Given the description of an element on the screen output the (x, y) to click on. 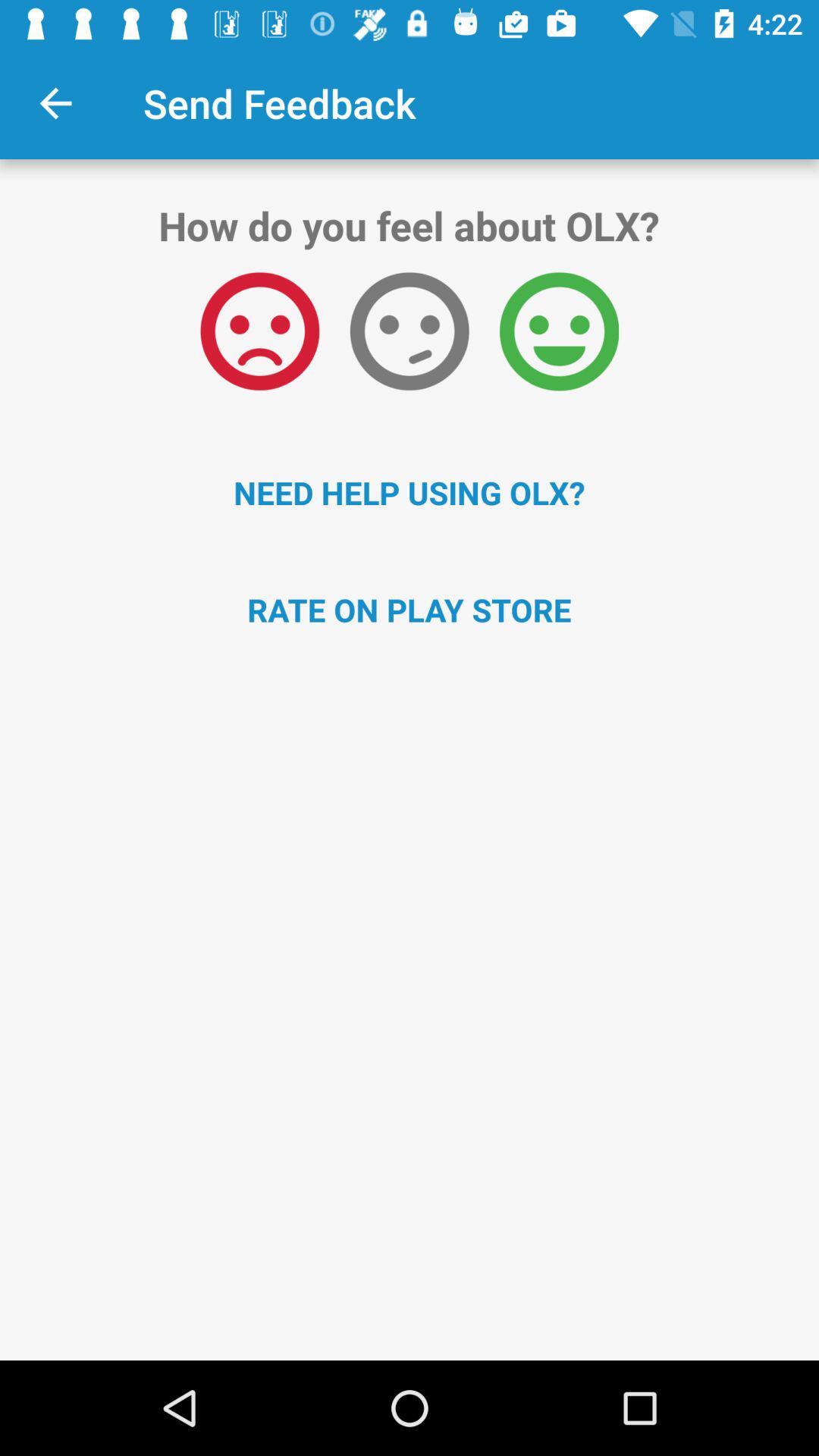
launch the item below the how do you item (558, 331)
